Given the description of an element on the screen output the (x, y) to click on. 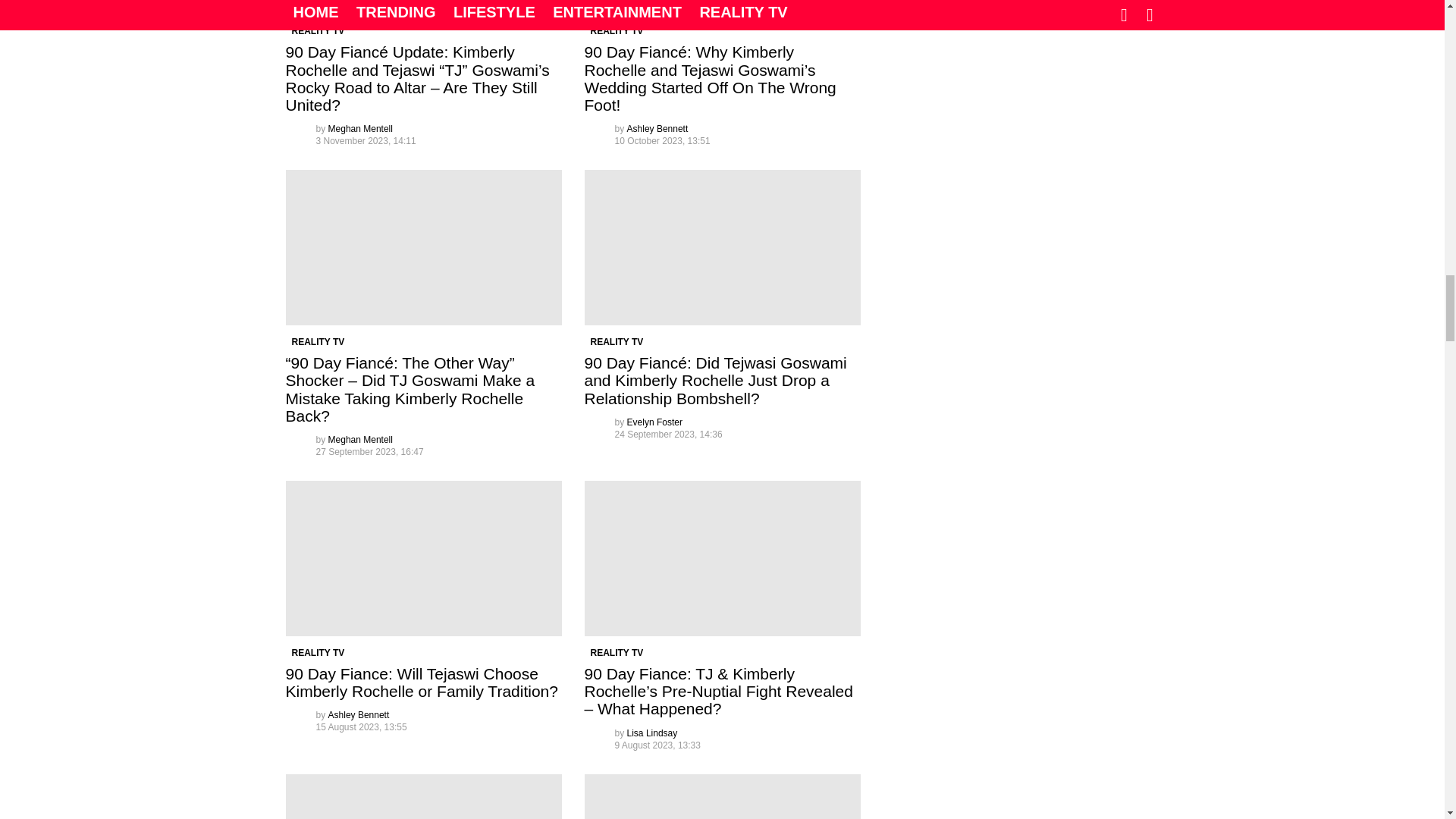
REALITY TV (317, 30)
Meghan Mentell (361, 128)
Posts by Meghan Mentell (361, 128)
Posts by Ashley Bennett (657, 128)
